Given the description of an element on the screen output the (x, y) to click on. 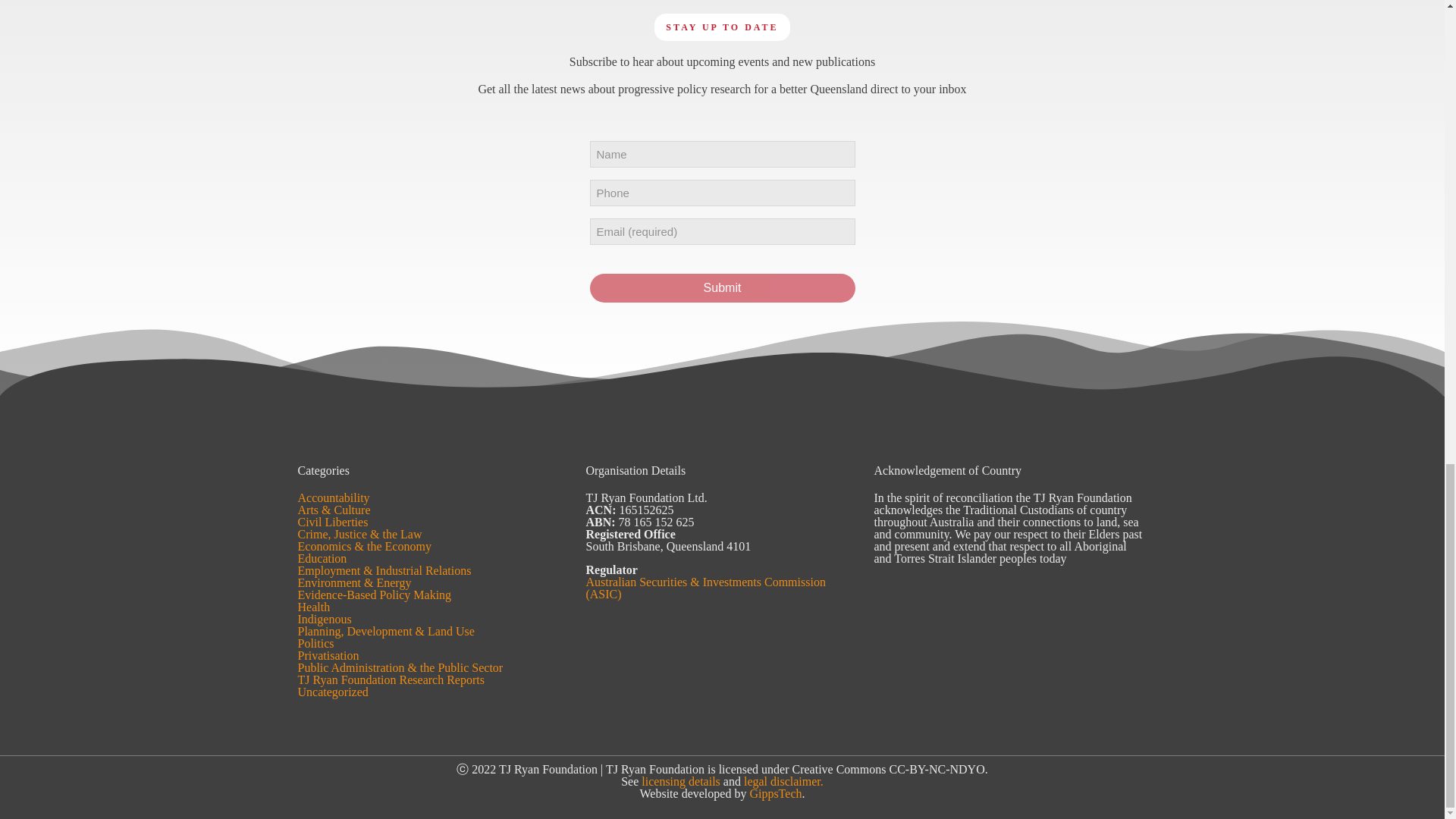
Submit (722, 287)
